Given the description of an element on the screen output the (x, y) to click on. 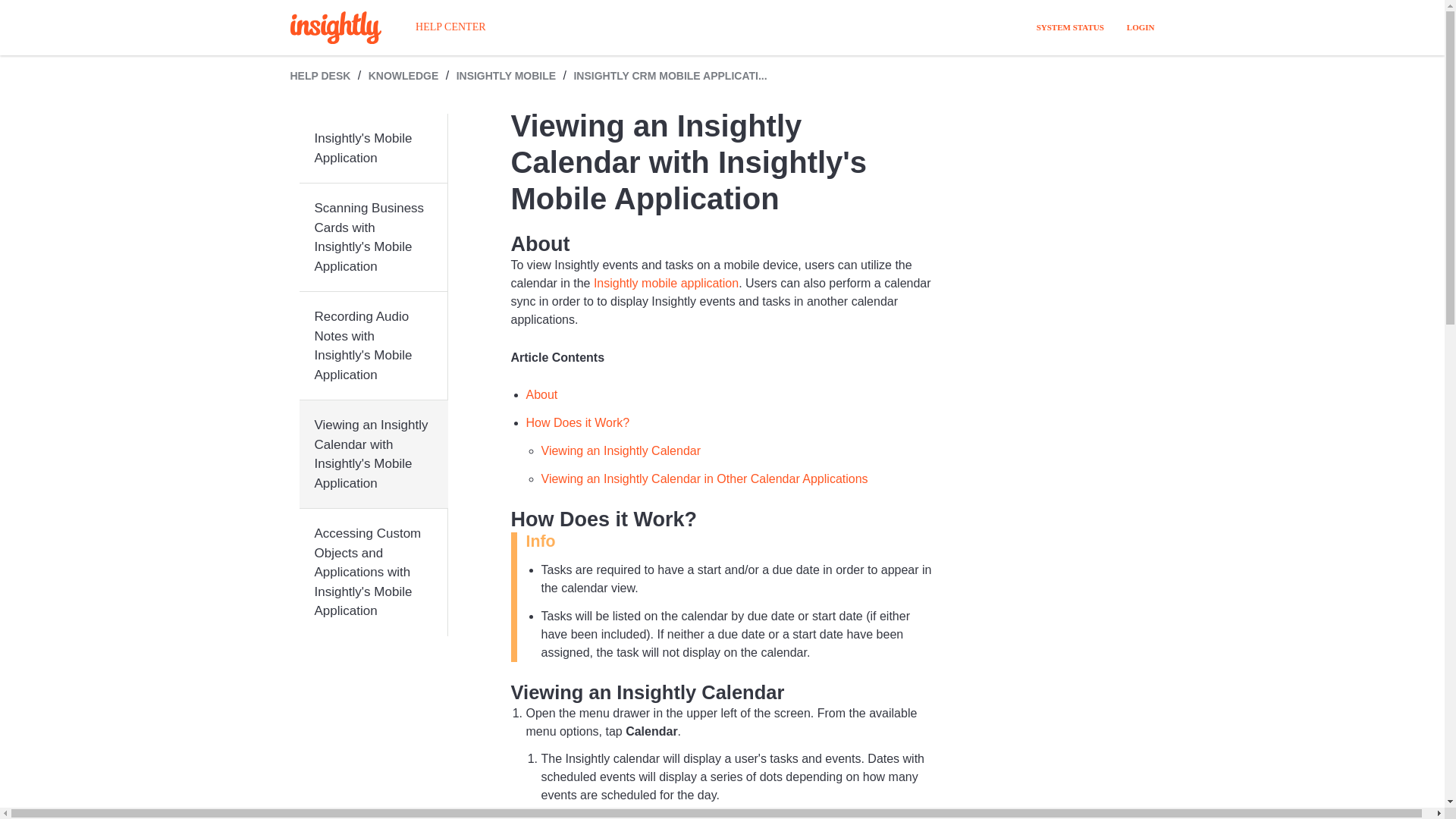
INSIGHTLY MOBILE (506, 75)
Recording Audio Notes with Insightly's Mobile Application (372, 345)
Insightly's Mobile Application (372, 148)
Home (334, 27)
Insightly Mobile (499, 75)
About (541, 394)
Insightly mobile application (666, 282)
Insightly CRM Mobile Applicati... (663, 75)
HELP DESK (319, 75)
